Given the description of an element on the screen output the (x, y) to click on. 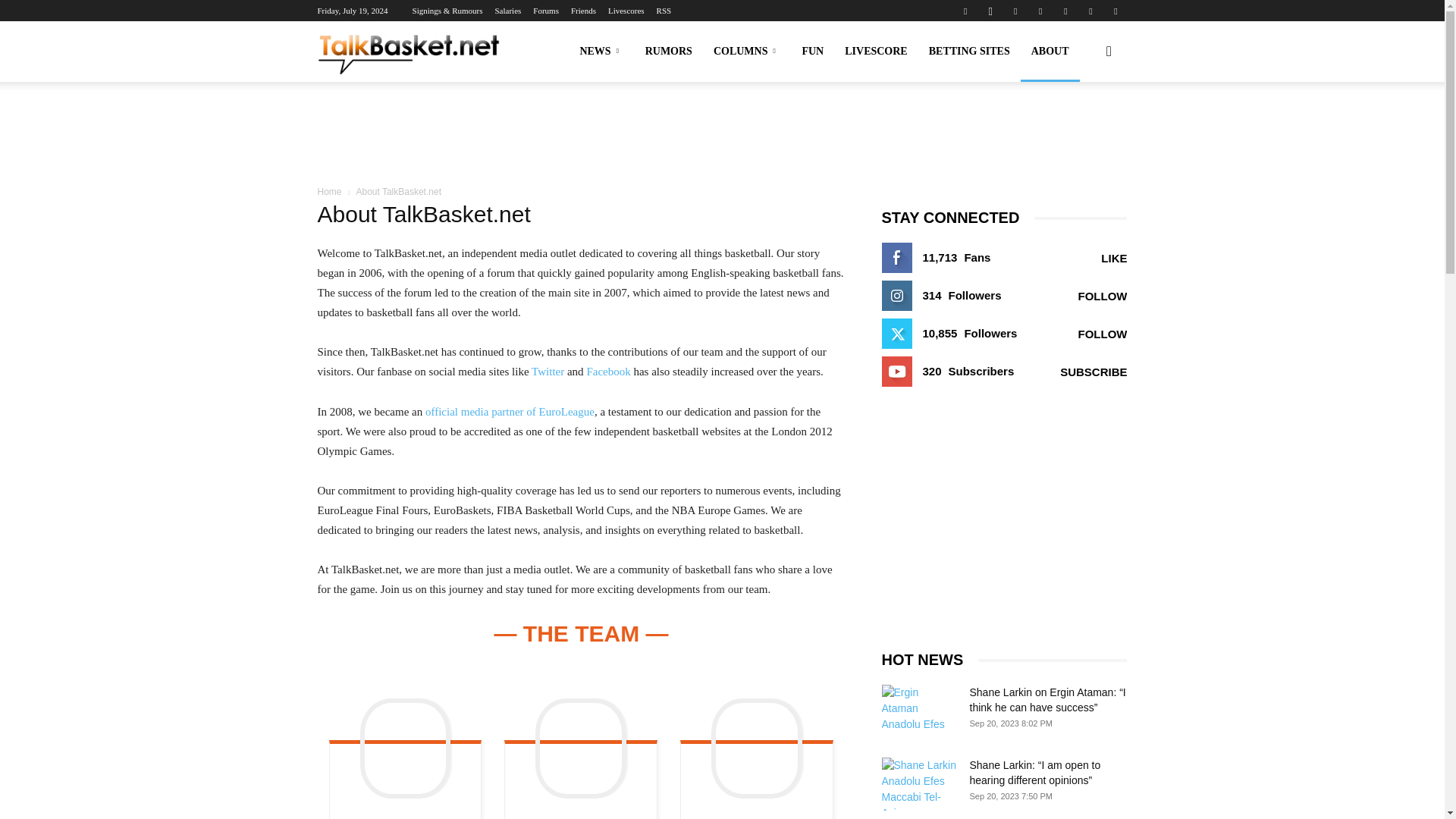
Mail (1040, 10)
TalkBasket (408, 52)
Salaries (508, 10)
Twitter (1090, 10)
Instagram (989, 10)
RSS (663, 10)
Youtube (1114, 10)
Linkedin (1015, 10)
Friends (582, 10)
Forums (545, 10)
Livescores (626, 10)
Facebook (964, 10)
RSS (1065, 10)
